Given the description of an element on the screen output the (x, y) to click on. 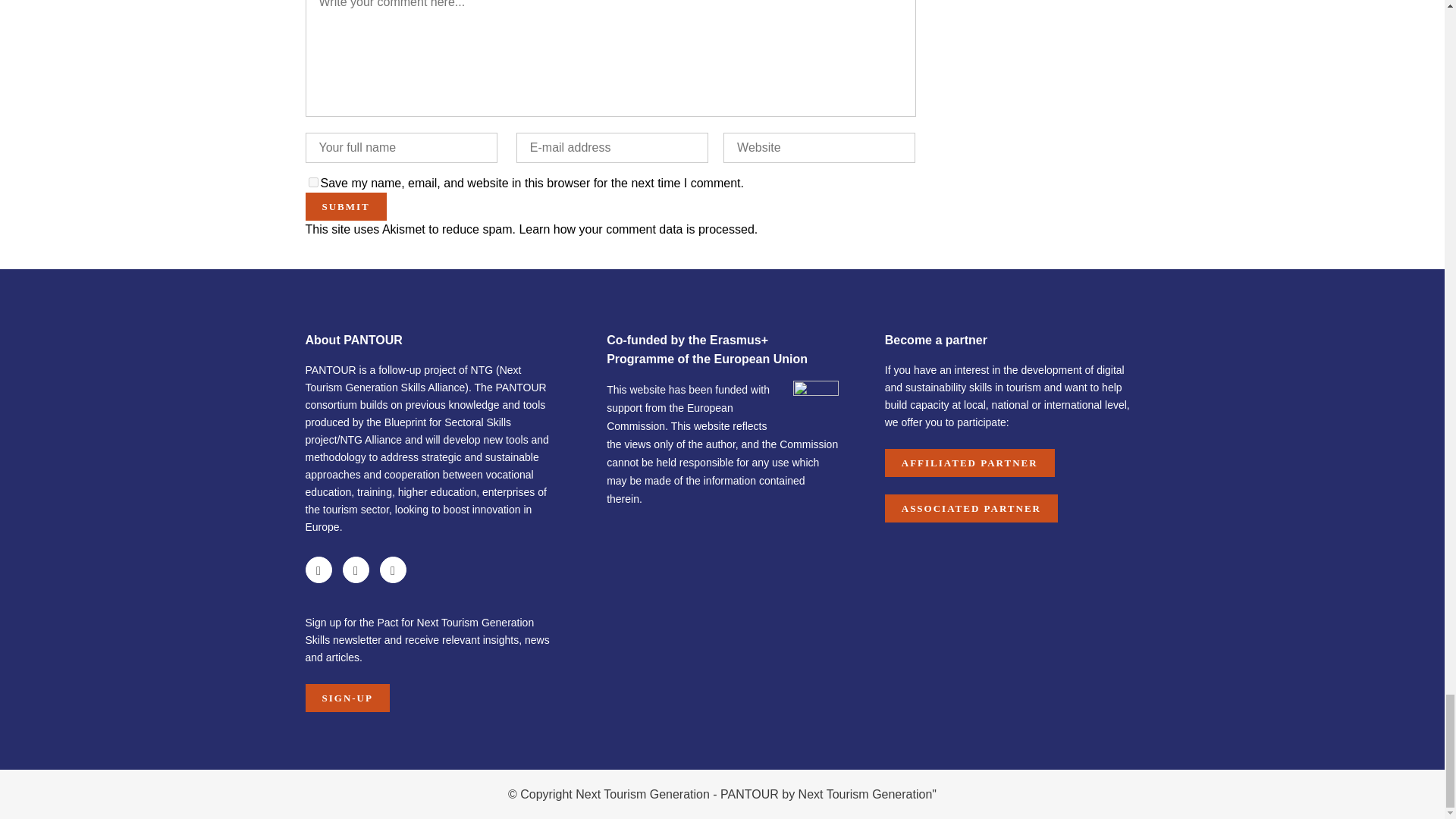
yes (312, 182)
Submit (344, 206)
